Given the description of an element on the screen output the (x, y) to click on. 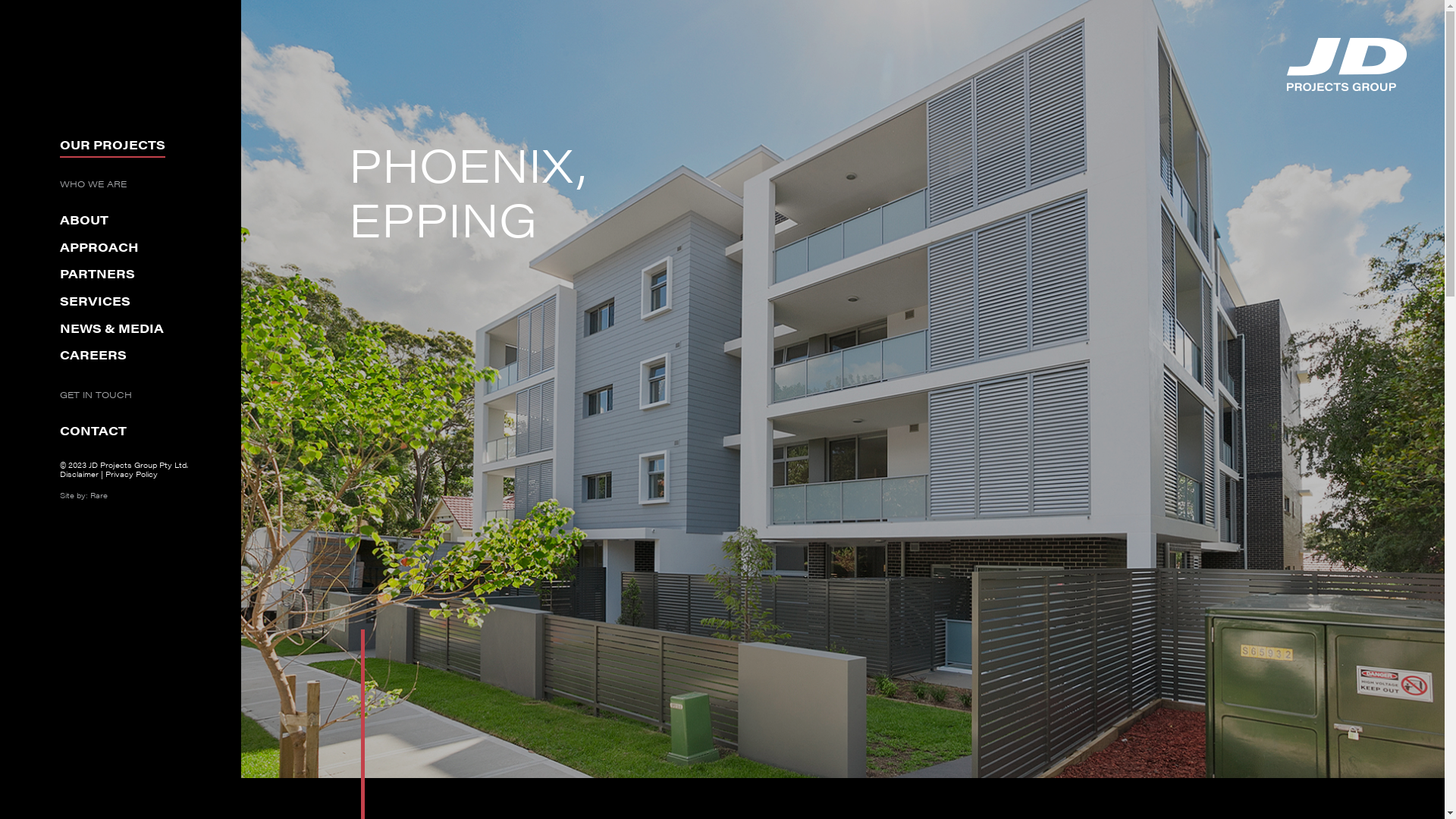
APPROACH Element type: text (98, 248)
SERVICES Element type: text (94, 302)
OUR PROJECTS Element type: text (112, 146)
ABOUT Element type: text (83, 221)
GET IN TOUCH Element type: text (95, 396)
PARTNERS Element type: text (96, 275)
Privacy Policy Element type: text (131, 473)
Site by: Rare Element type: text (83, 494)
CAREERS Element type: text (92, 356)
NEWS & MEDIA Element type: text (111, 330)
Disclaimer Element type: text (78, 473)
CONTACT Element type: text (92, 432)
WHO WE ARE Element type: text (92, 185)
